Given the description of an element on the screen output the (x, y) to click on. 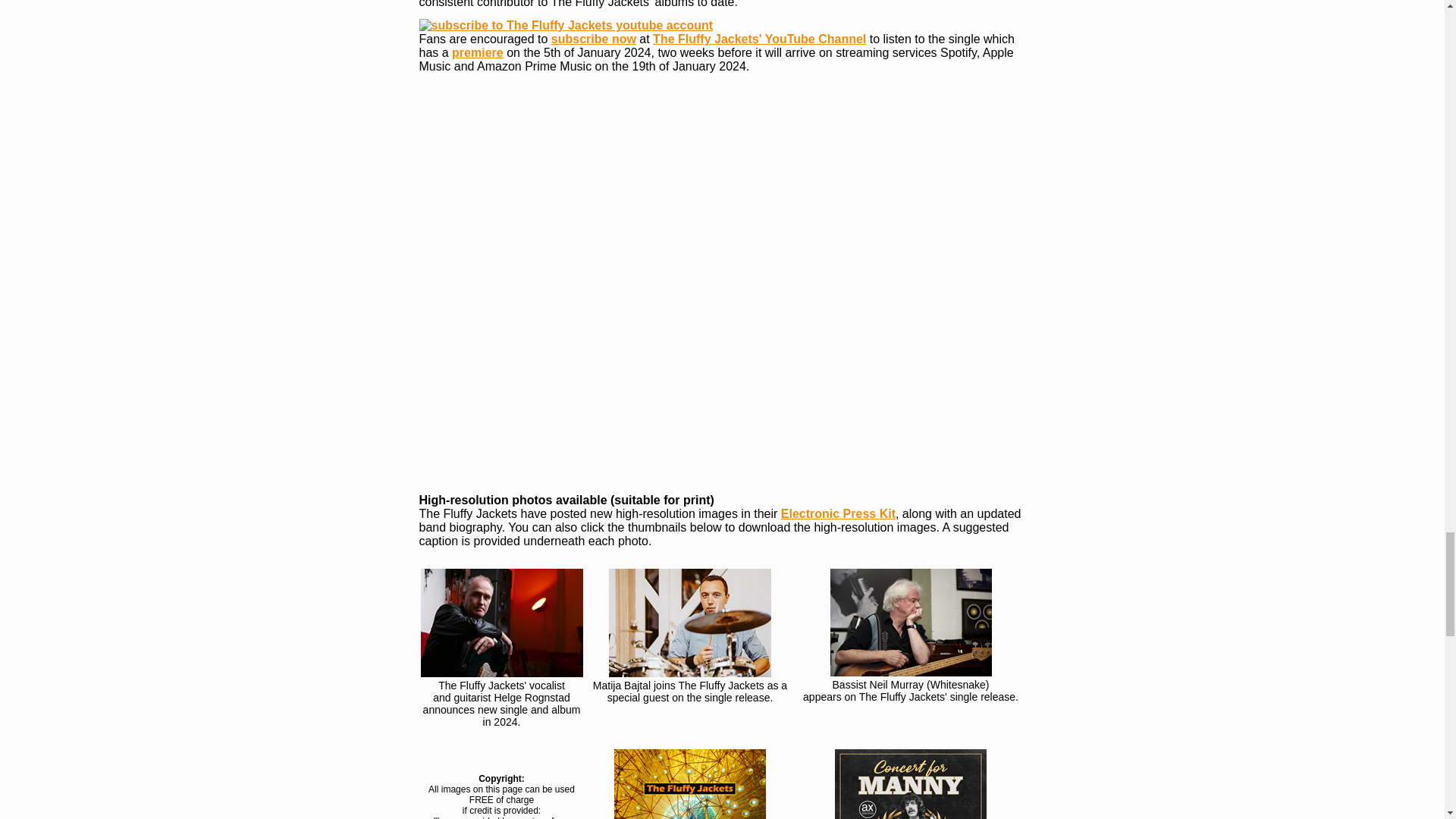
subscribe now (593, 38)
The Fluffy Jackets' YouTube Channel (759, 38)
Electronic Press Kit (837, 513)
premiere (477, 51)
Subscribe (566, 25)
